Given the description of an element on the screen output the (x, y) to click on. 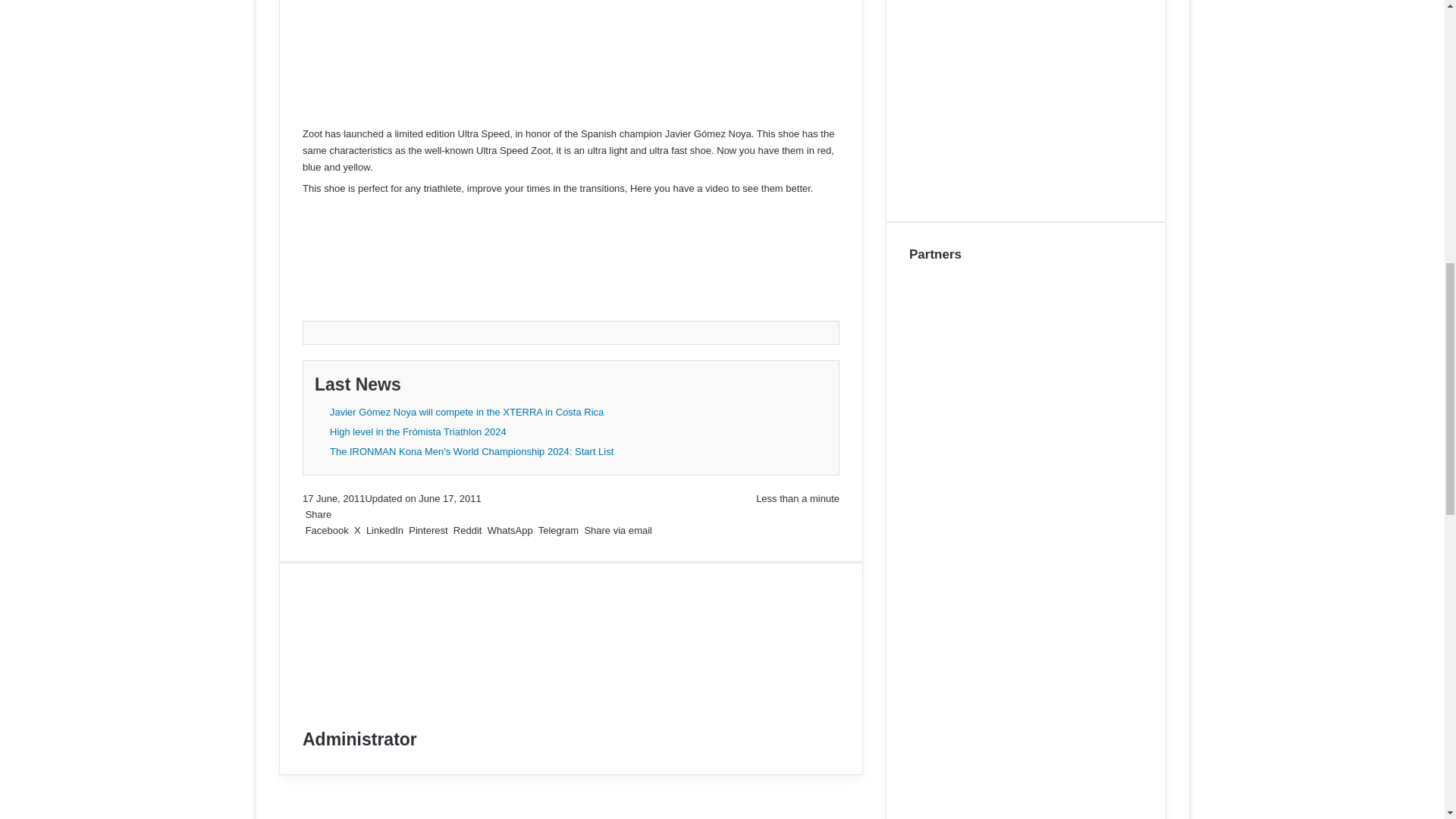
Reddit (466, 531)
LinkedIn (384, 531)
X (356, 531)
Reddit (466, 531)
Pinterest (427, 531)
WhatsApp (509, 531)
X (356, 531)
The IRONMAN Kona Men's World Championship 2024: Start List (470, 451)
Facebook (325, 531)
Pinterest (427, 531)
